Given the description of an element on the screen output the (x, y) to click on. 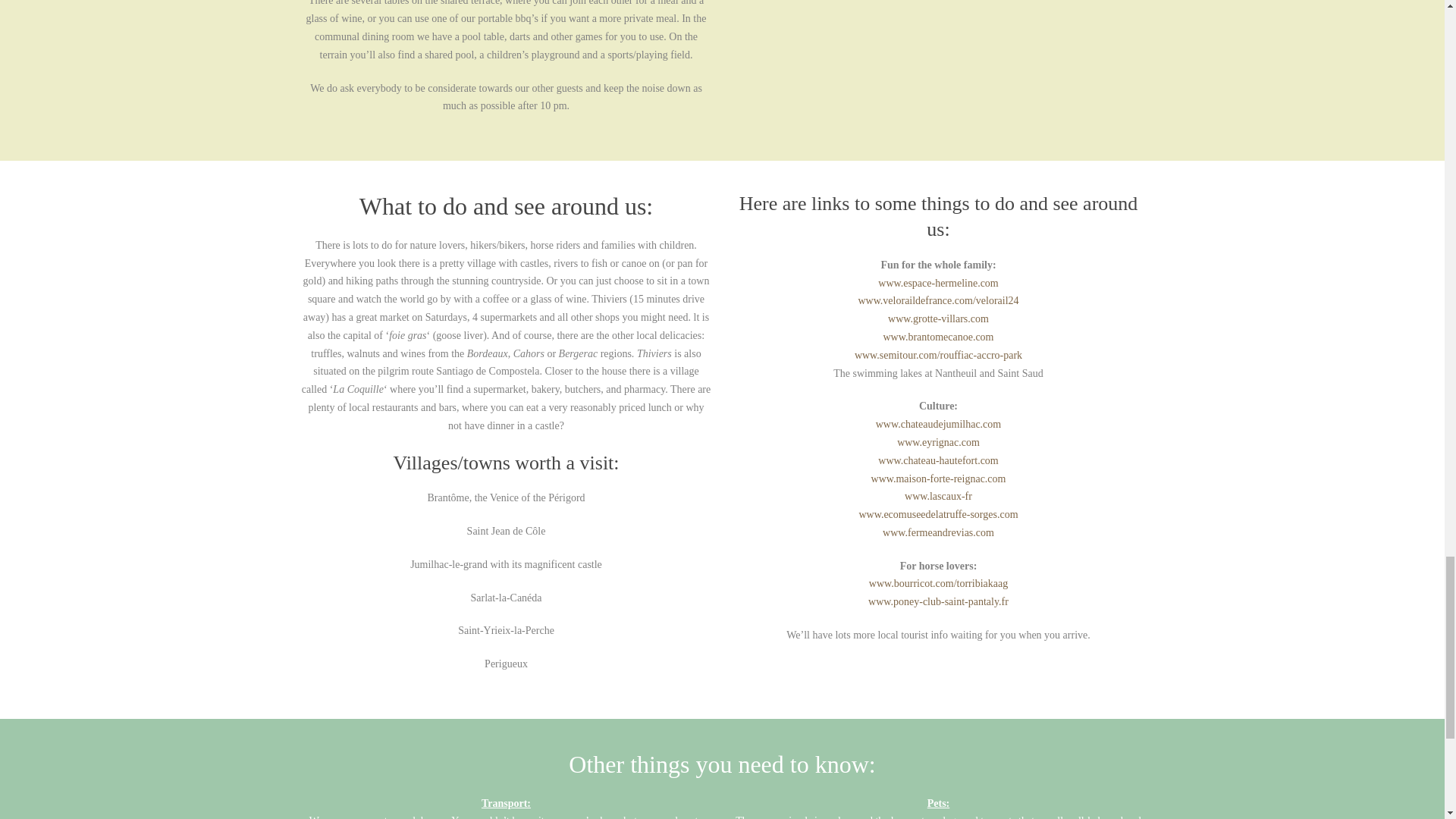
www.ecomuseedelatruffe-sorges.com (938, 514)
www.chateaudejumilhac.com (938, 423)
www.chateau-hautefort.com (937, 460)
www.eyrignac.com (937, 441)
www.grotte-villars.com (938, 318)
www.fermeandrevias.com (938, 532)
www.maison-forte-reignac.com (938, 478)
www.poney-club-saint-pantaly.fr (938, 601)
www.lascaux-fr (938, 496)
www.espace-hermeline.com (937, 283)
www.brantomecanoe.com (937, 337)
